Given the description of an element on the screen output the (x, y) to click on. 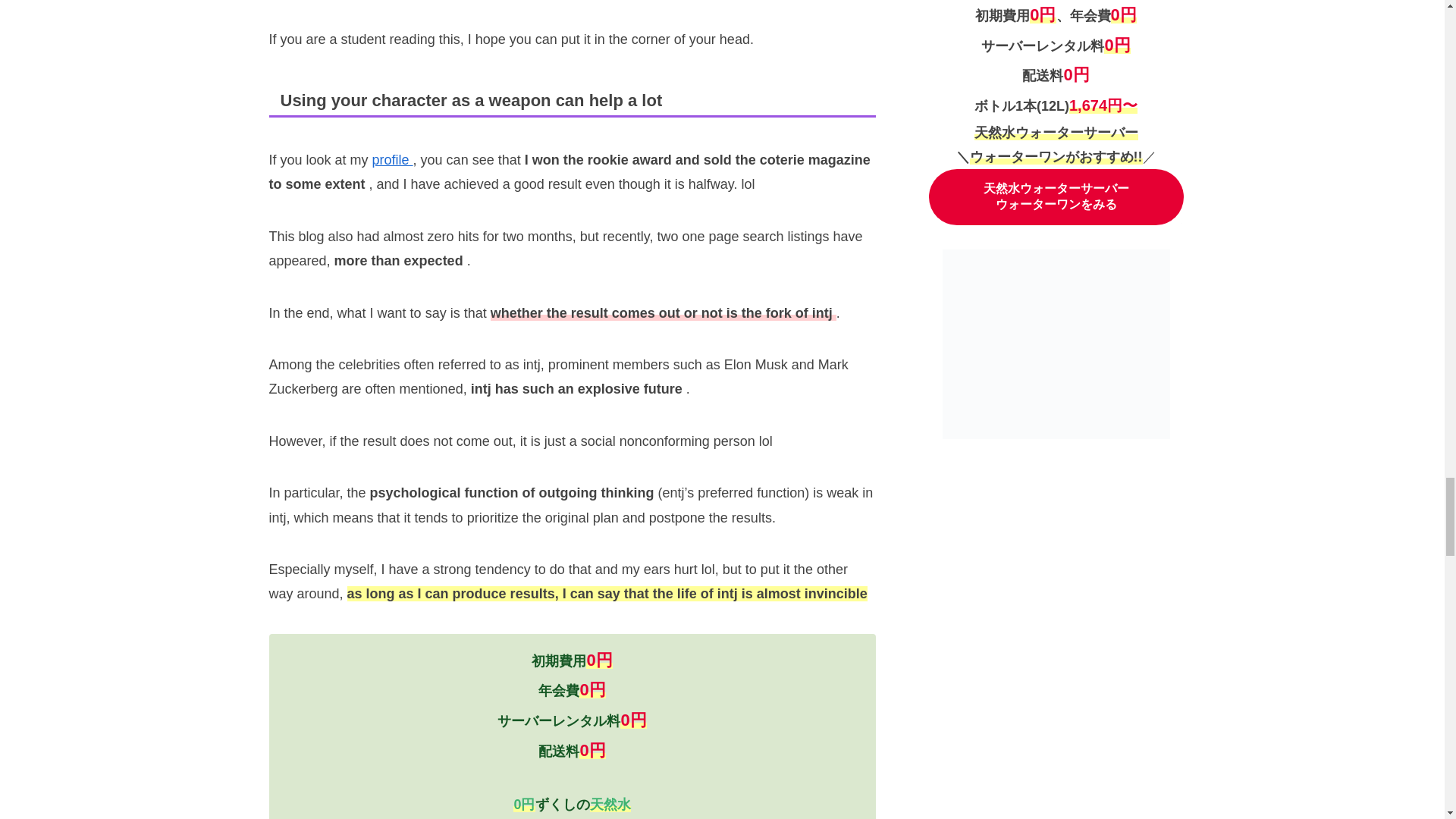
profile (392, 159)
